Given the description of an element on the screen output the (x, y) to click on. 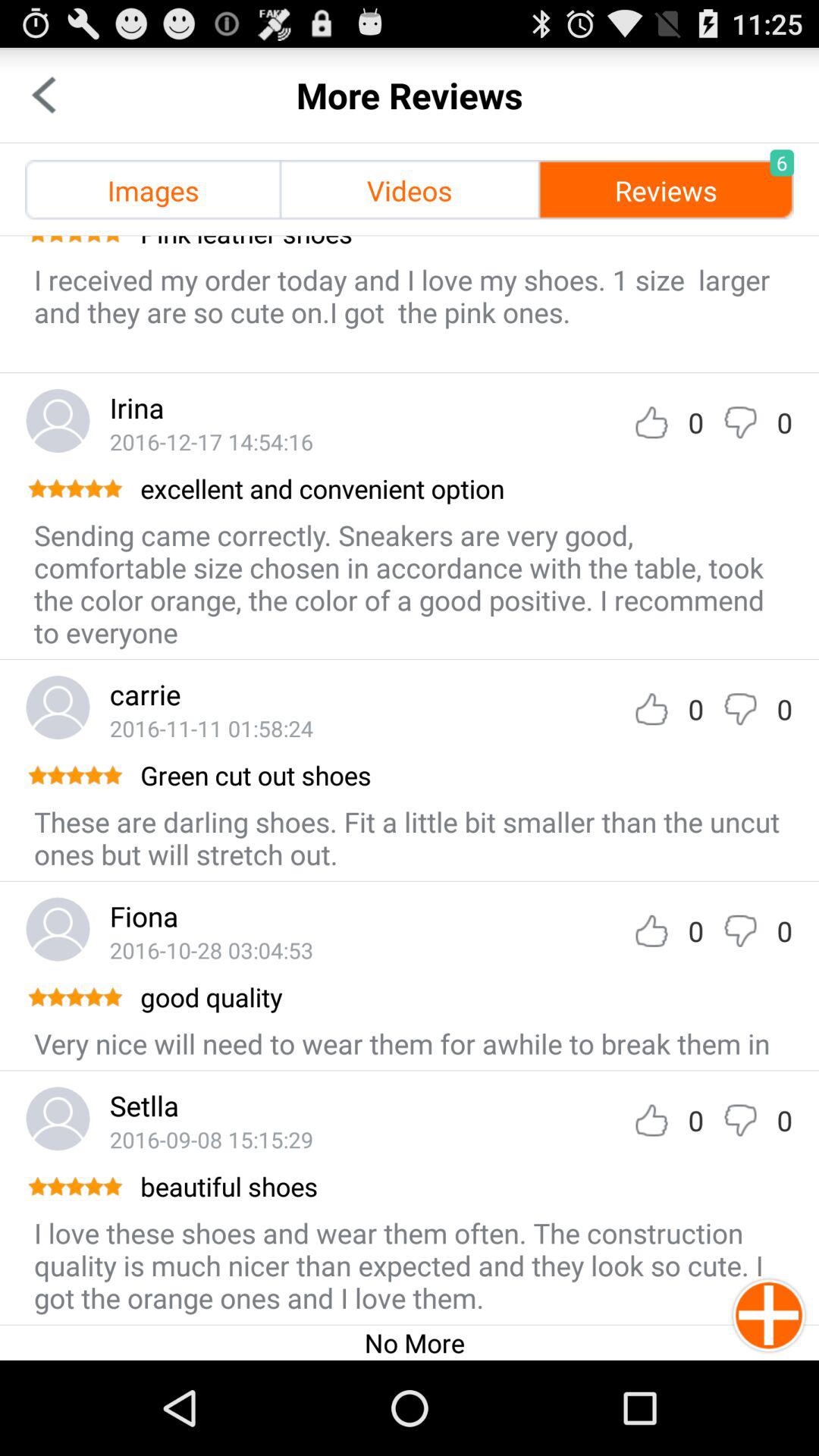
open icon below the irina icon (211, 441)
